Given the description of an element on the screen output the (x, y) to click on. 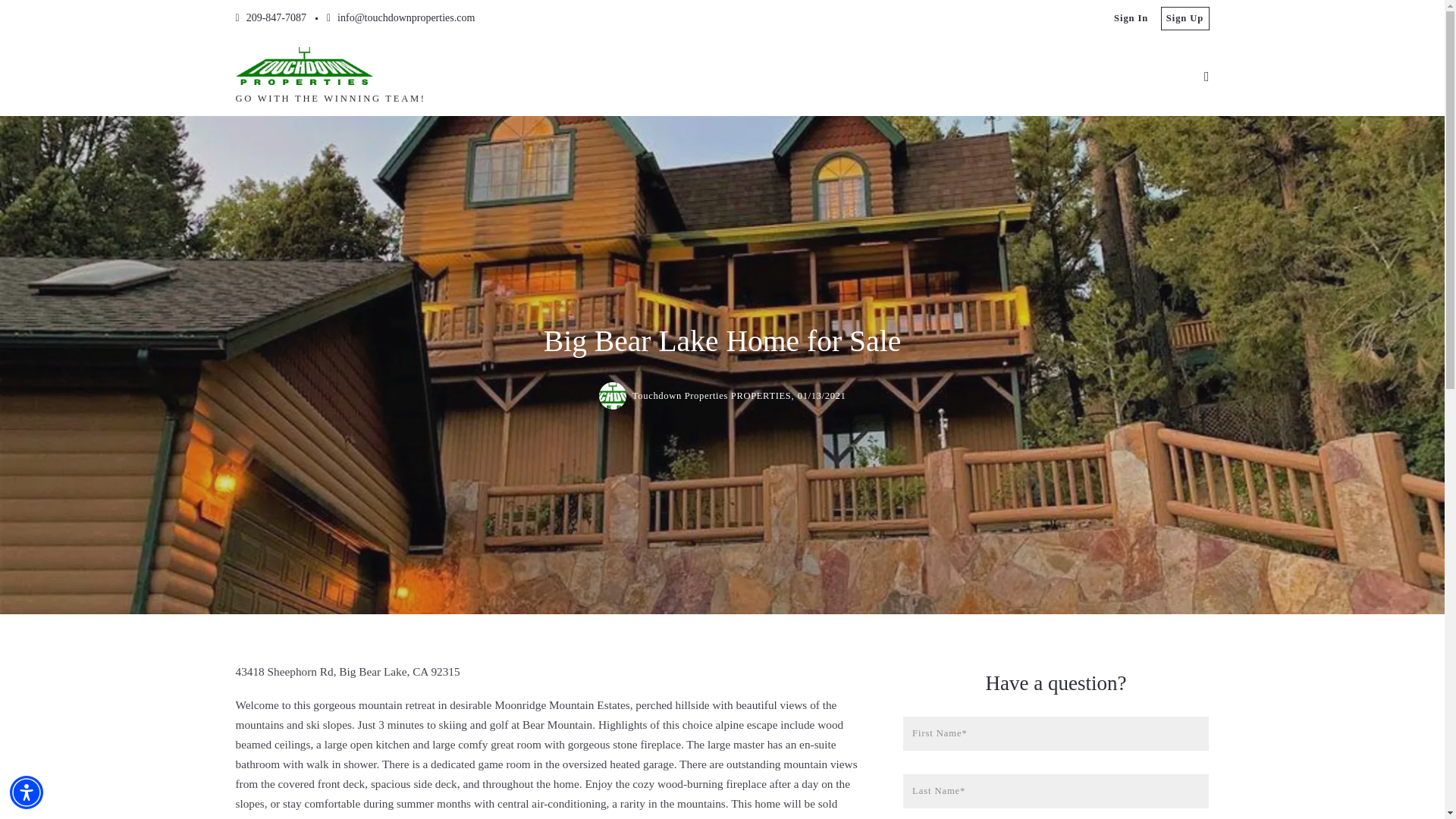
209-847-7087 (269, 17)
Sign In (1131, 18)
Homepage (303, 65)
Accessibility Menu (26, 792)
Sign Up (1184, 18)
Big Bear Lake Home for Sale (612, 395)
Sign Up (1184, 18)
Sign In (1131, 18)
209-847-7087 (269, 17)
